Given the description of an element on the screen output the (x, y) to click on. 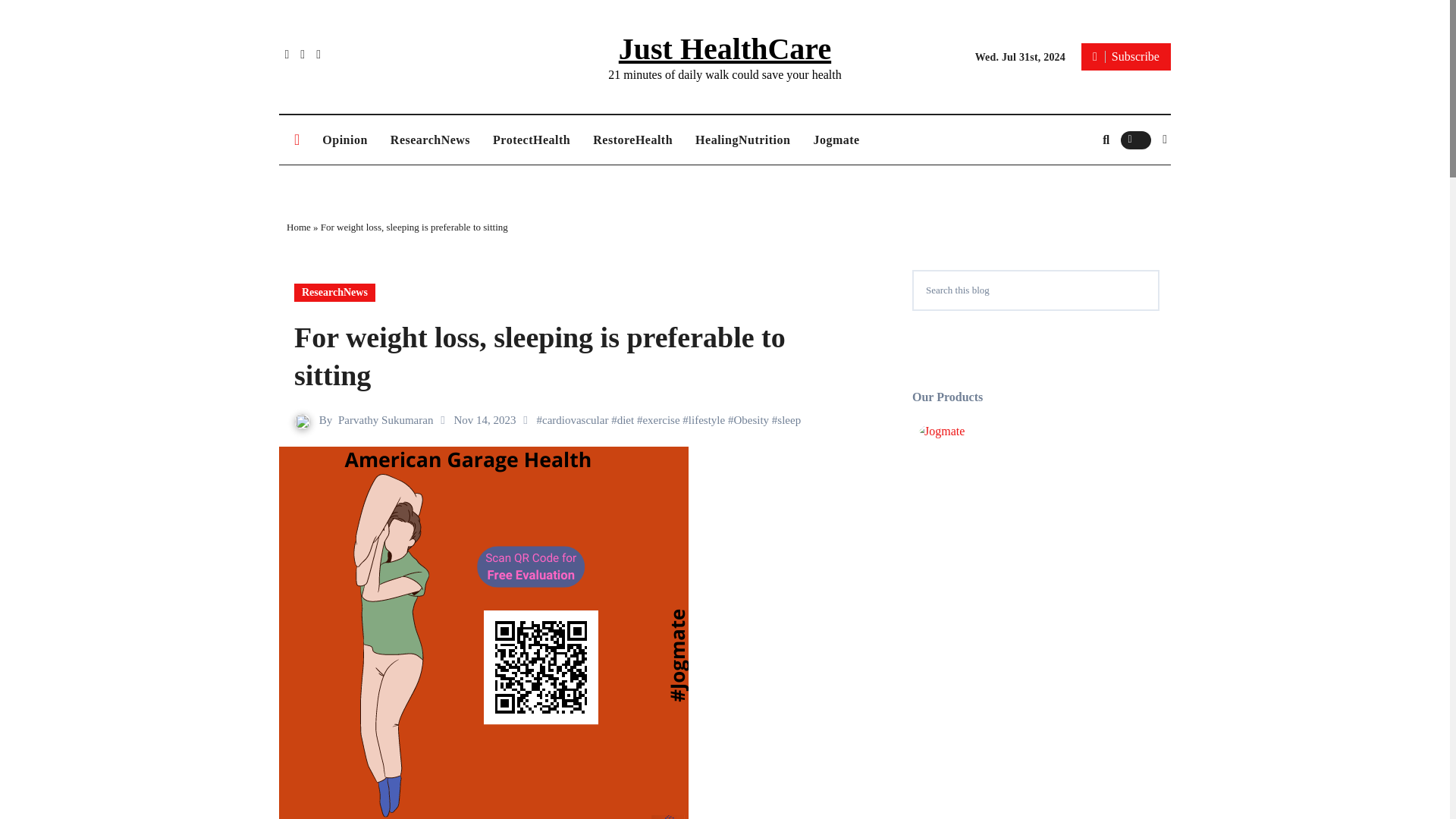
Parvathy Sukumaran (384, 419)
exercise (660, 419)
Subscribe (1125, 56)
Opinion (344, 139)
cardiovascular (574, 419)
RestoreHealth (632, 139)
RestoreHealth (632, 139)
ProtectHealth (530, 139)
sleep (788, 419)
ResearchNews (429, 139)
Obesity (750, 419)
Opinion (344, 139)
ResearchNews (429, 139)
HealingNutrition (743, 139)
Just HealthCare (724, 48)
